Given the description of an element on the screen output the (x, y) to click on. 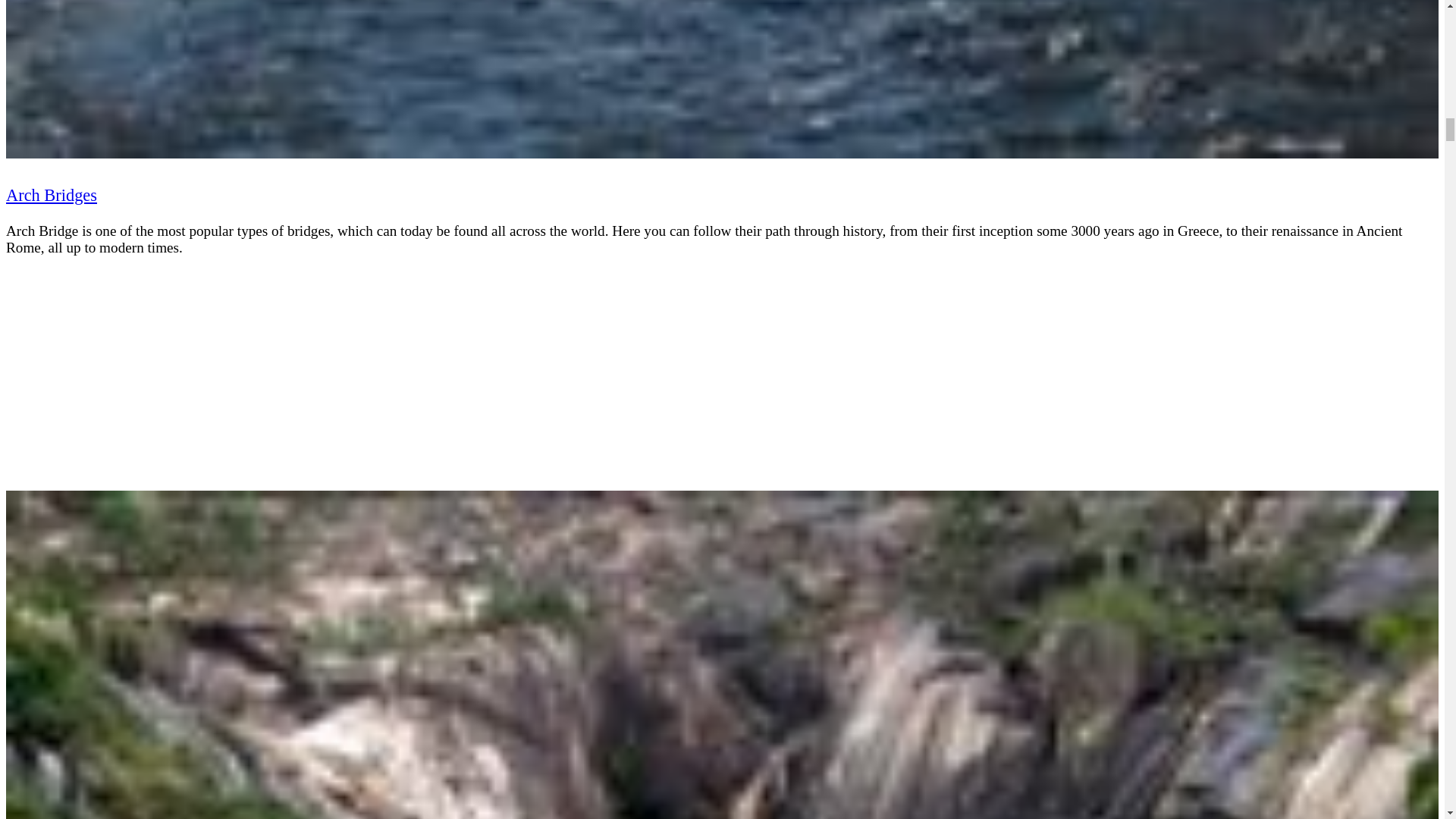
Arch Bridges (51, 194)
